Given the description of an element on the screen output the (x, y) to click on. 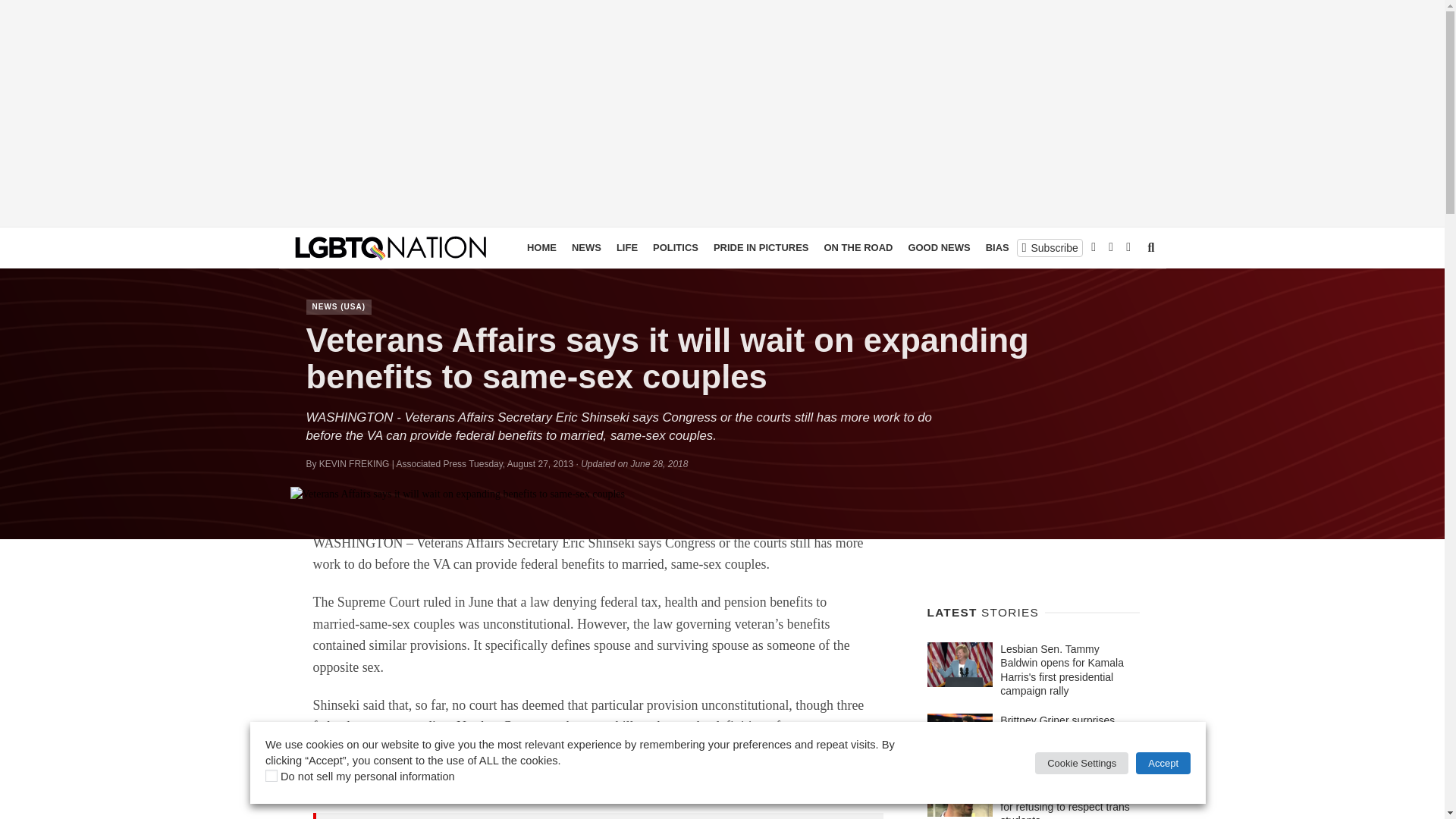
BIAS WATCH (1016, 247)
PRIDE IN PICTURES (761, 247)
GOOD NEWS (937, 247)
HOME (541, 247)
POLITICS (675, 247)
COMMENTARY (1097, 247)
ON THE ROAD (857, 247)
NEWS (586, 247)
LIFE (626, 247)
on (271, 775)
Tuesday, August 27, 2013 pm31 14:00:09 (520, 463)
Subscribe (1049, 247)
